Given the description of an element on the screen output the (x, y) to click on. 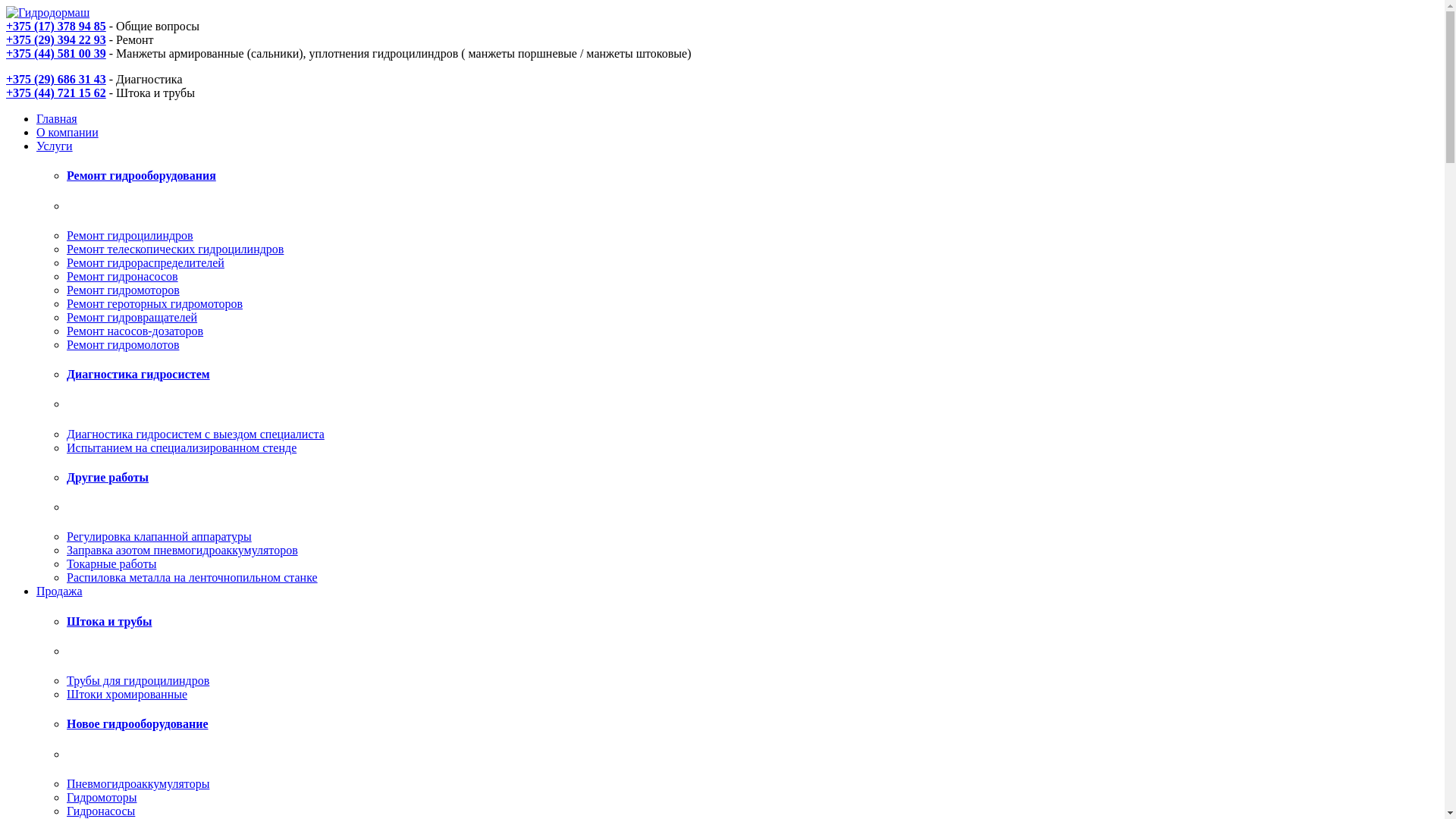
+375 (29) 686 31 43 Element type: text (56, 78)
+375 (44) 721 15 62 Element type: text (56, 92)
+375 (17) 378 94 85 Element type: text (56, 25)
+375 (44) 581 00 39 Element type: text (56, 53)
+375 (29) 394 22 93 Element type: text (56, 39)
